Given the description of an element on the screen output the (x, y) to click on. 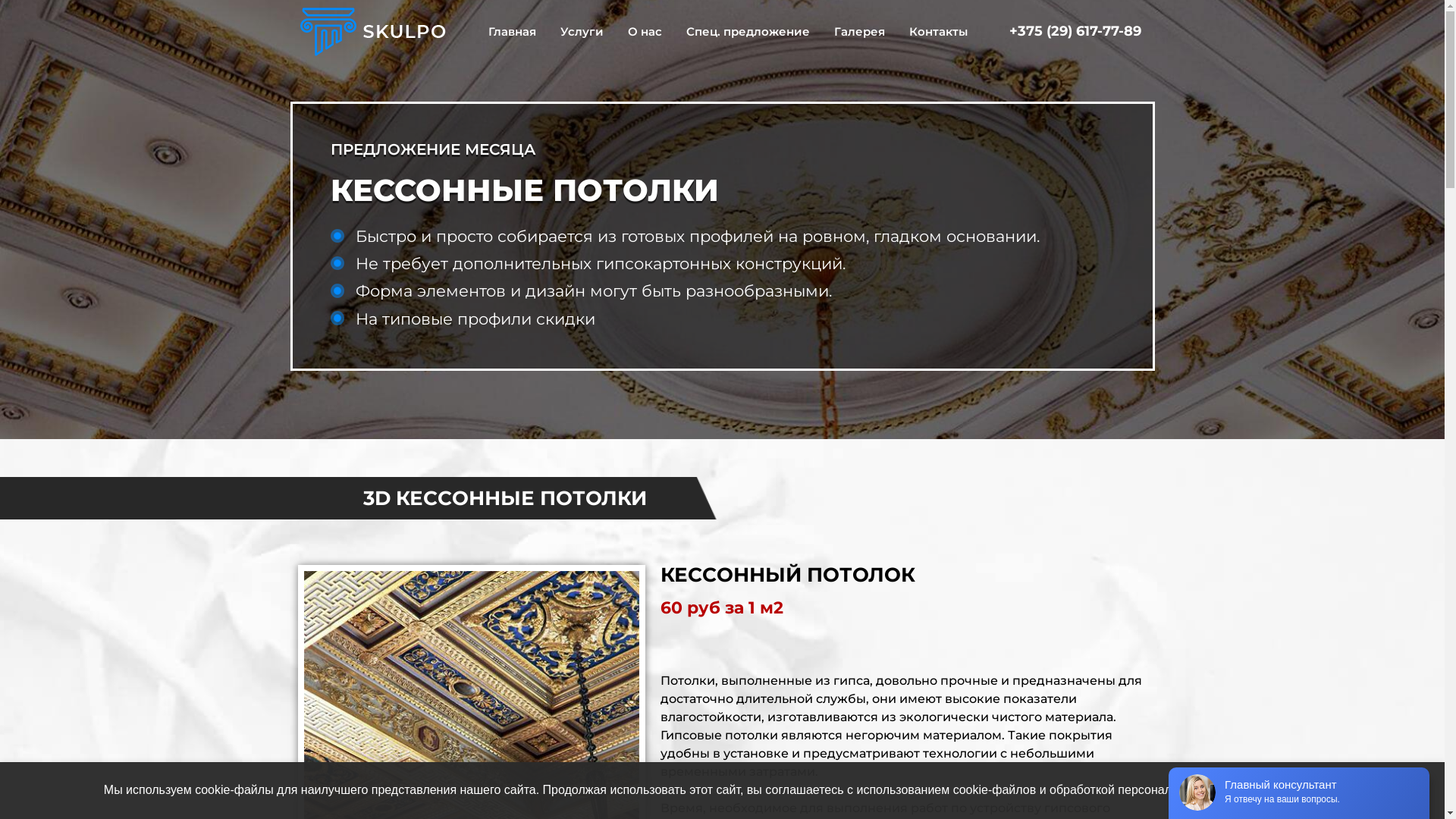
+375 (29) 617-77-89 Element type: text (1075, 30)
